Given the description of an element on the screen output the (x, y) to click on. 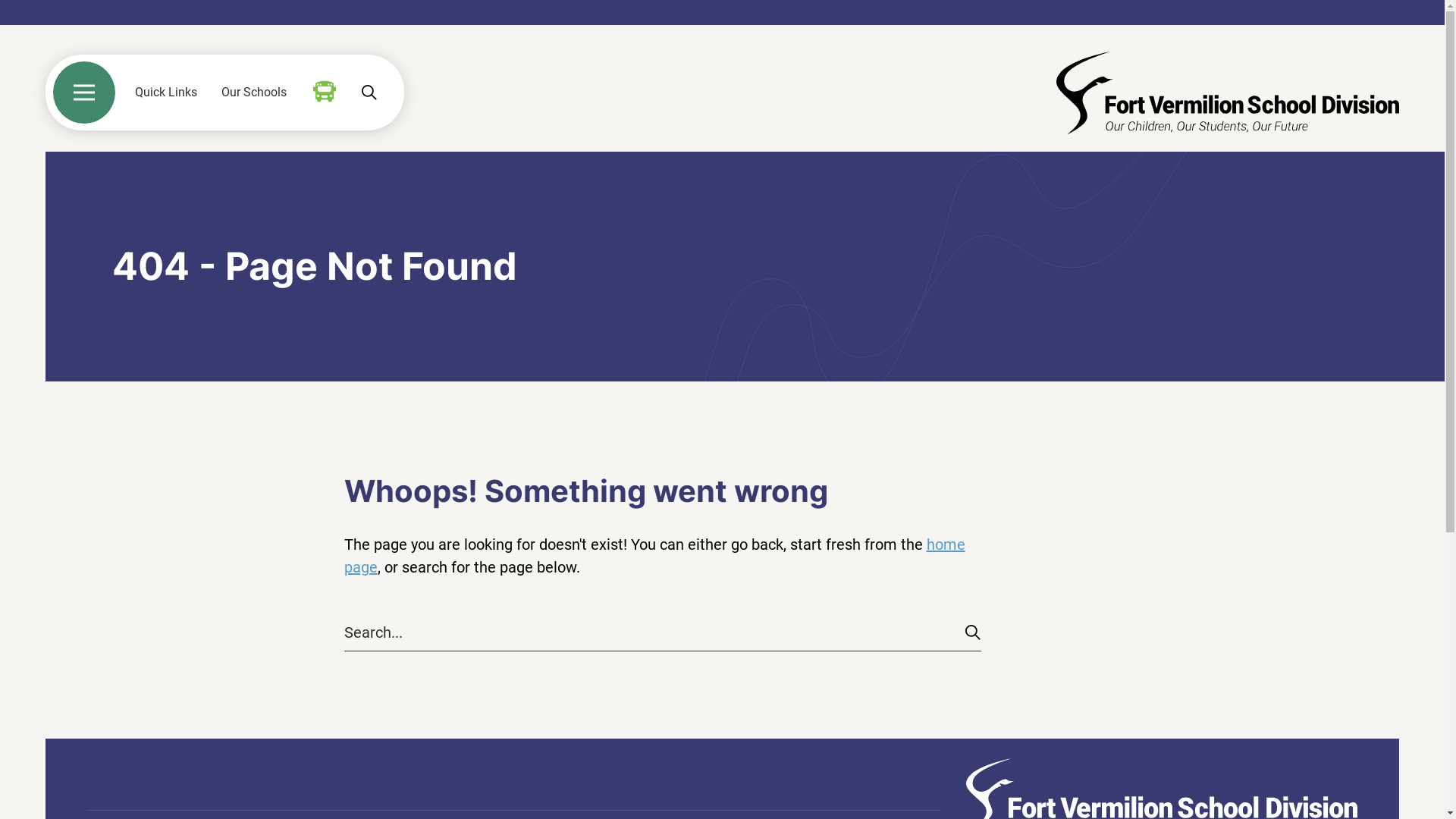
Our Schools Element type: text (253, 92)
Quick Links Element type: text (165, 92)
Toggle Search Element type: text (369, 92)
home page Element type: text (654, 555)
Fort Vermilion School Division Element type: hover (1227, 92)
Menu Element type: text (84, 92)
Bus Status Element type: hover (324, 91)
